Given the description of an element on the screen output the (x, y) to click on. 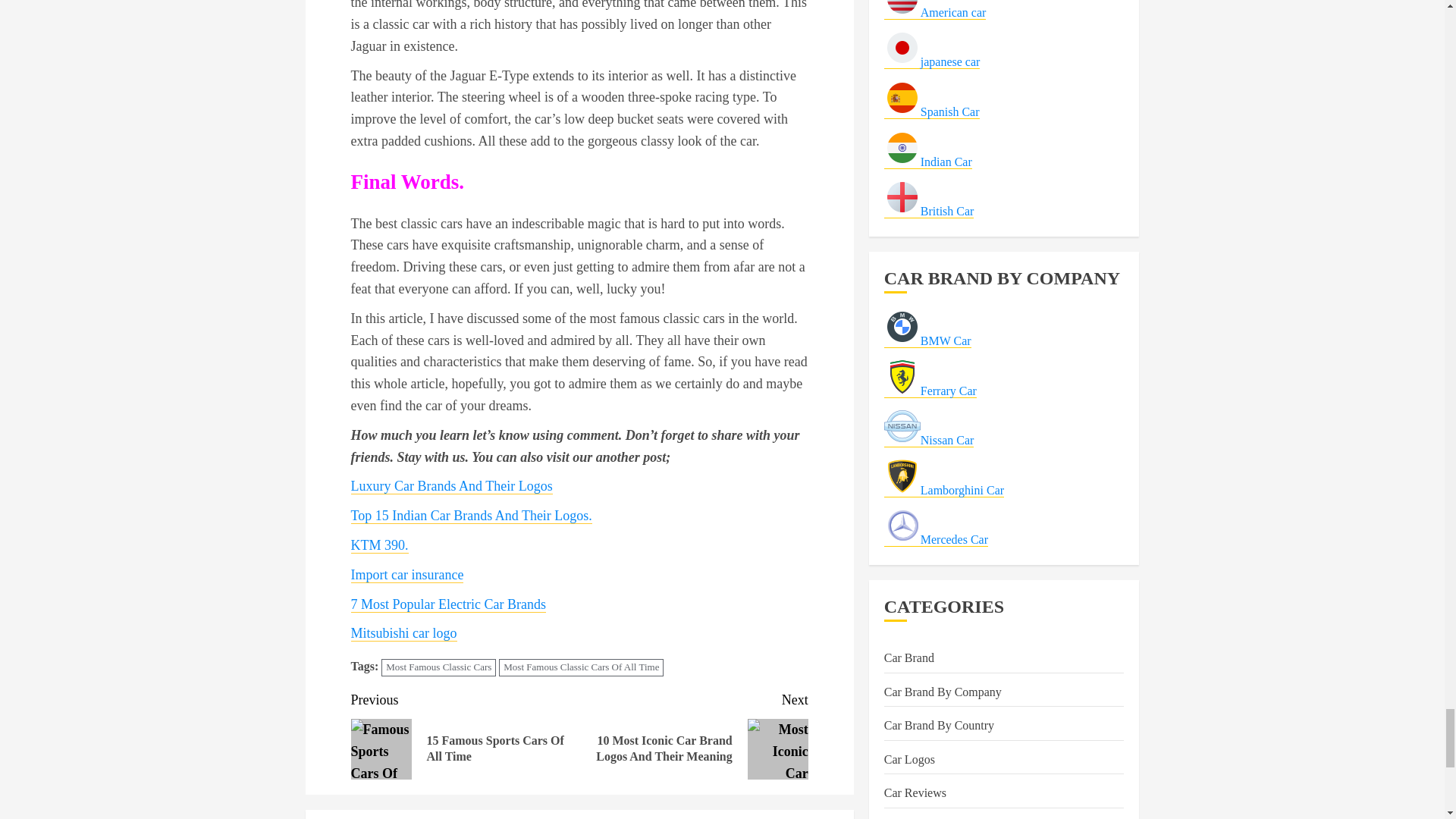
Luxury Car Brands And Their Logos (450, 486)
